Given the description of an element on the screen output the (x, y) to click on. 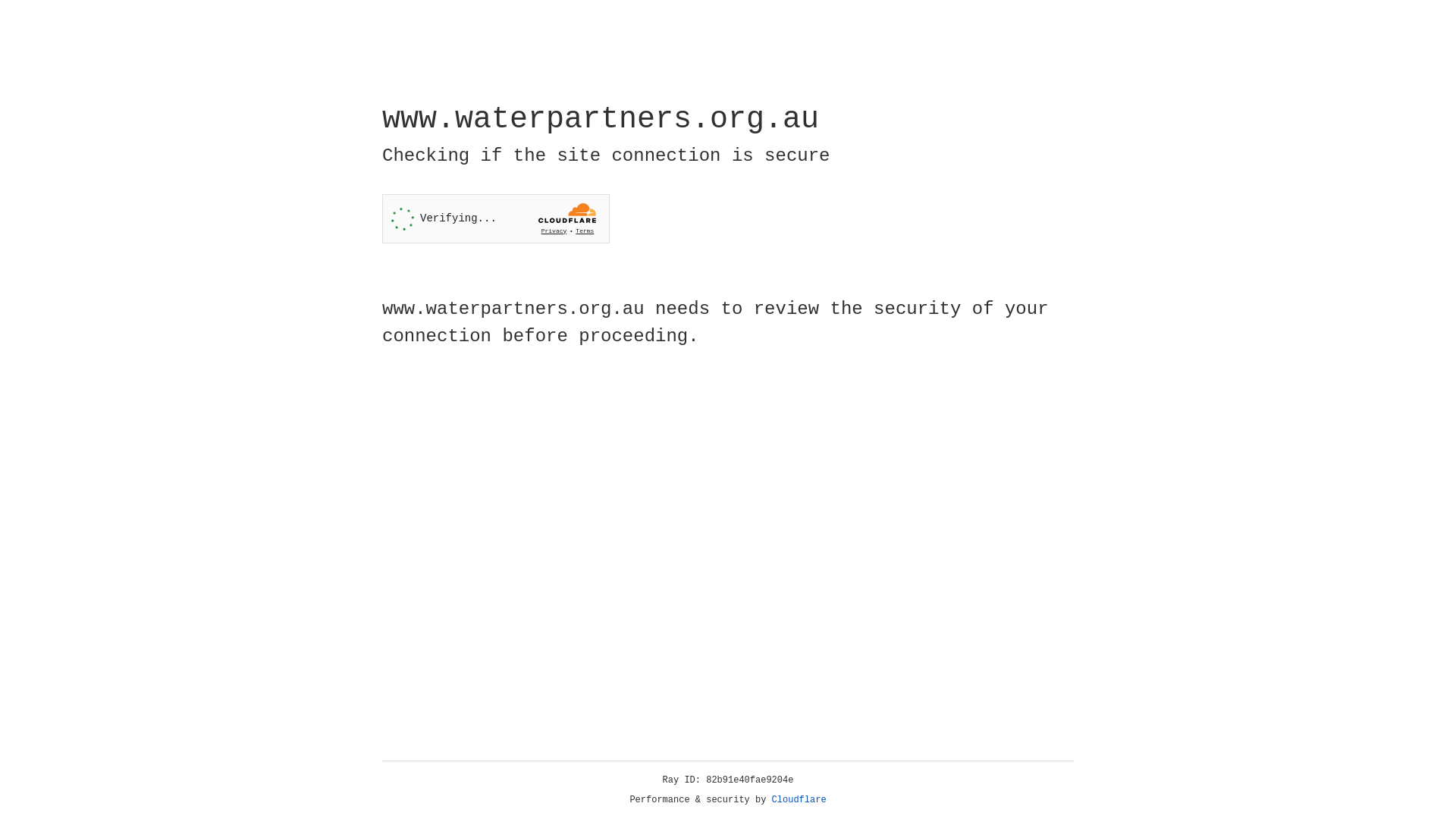
Cloudflare Element type: text (798, 799)
Widget containing a Cloudflare security challenge Element type: hover (495, 218)
